Given the description of an element on the screen output the (x, y) to click on. 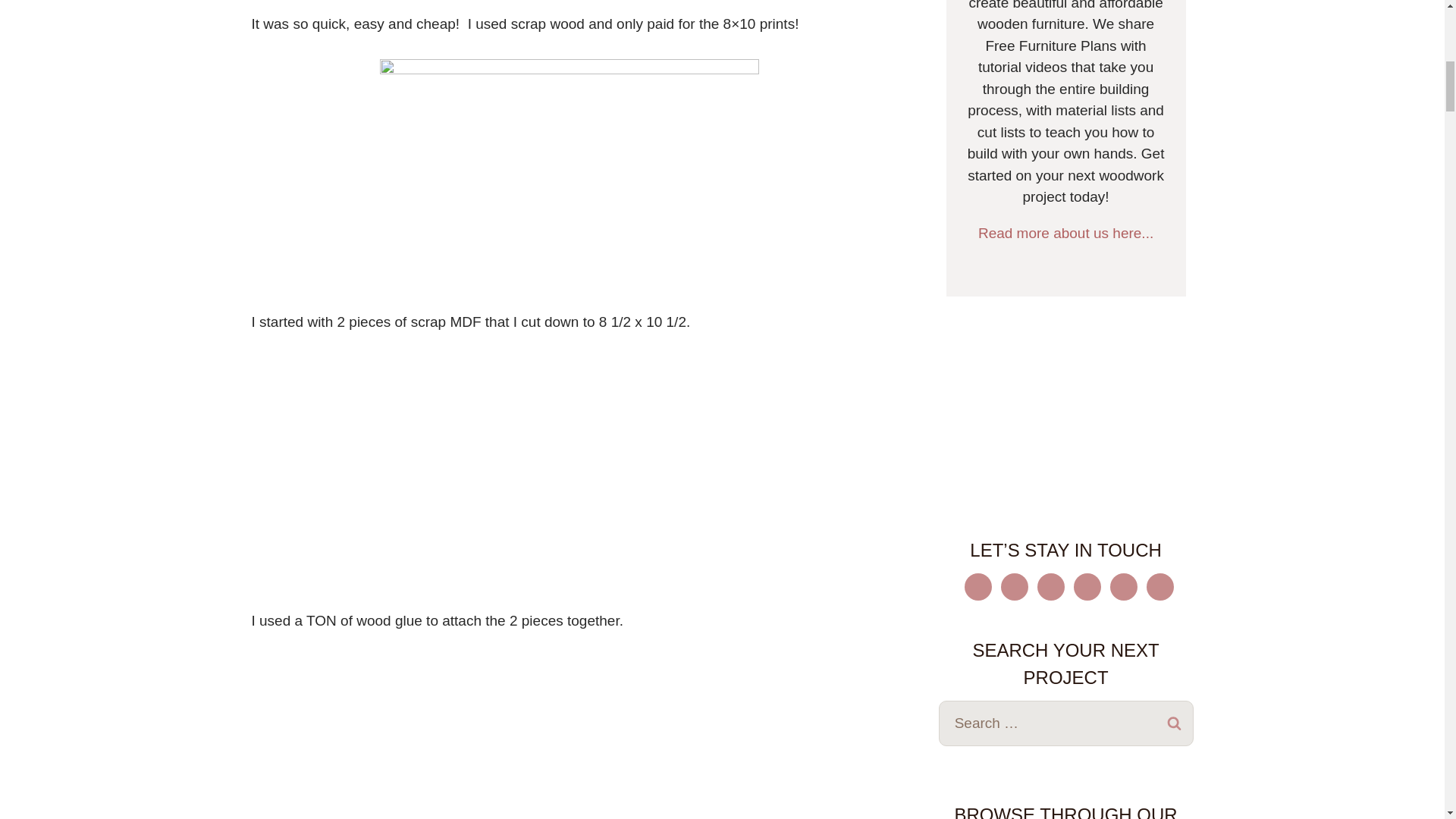
035 (569, 6)
046 (569, 483)
Search (1174, 723)
Search (1174, 723)
045a (569, 185)
